Given the description of an element on the screen output the (x, y) to click on. 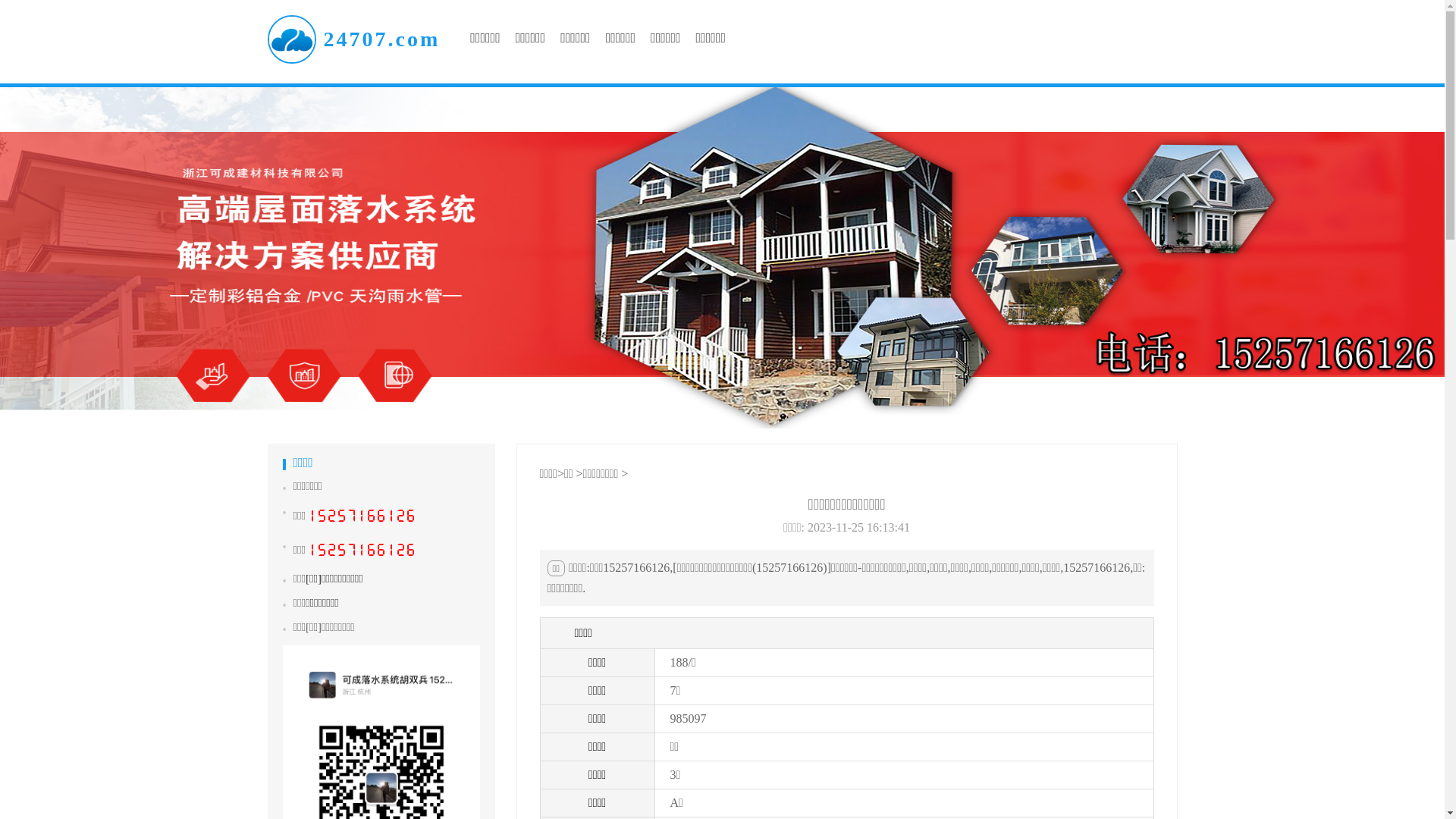
24707.com Element type: text (352, 39)
